Given the description of an element on the screen output the (x, y) to click on. 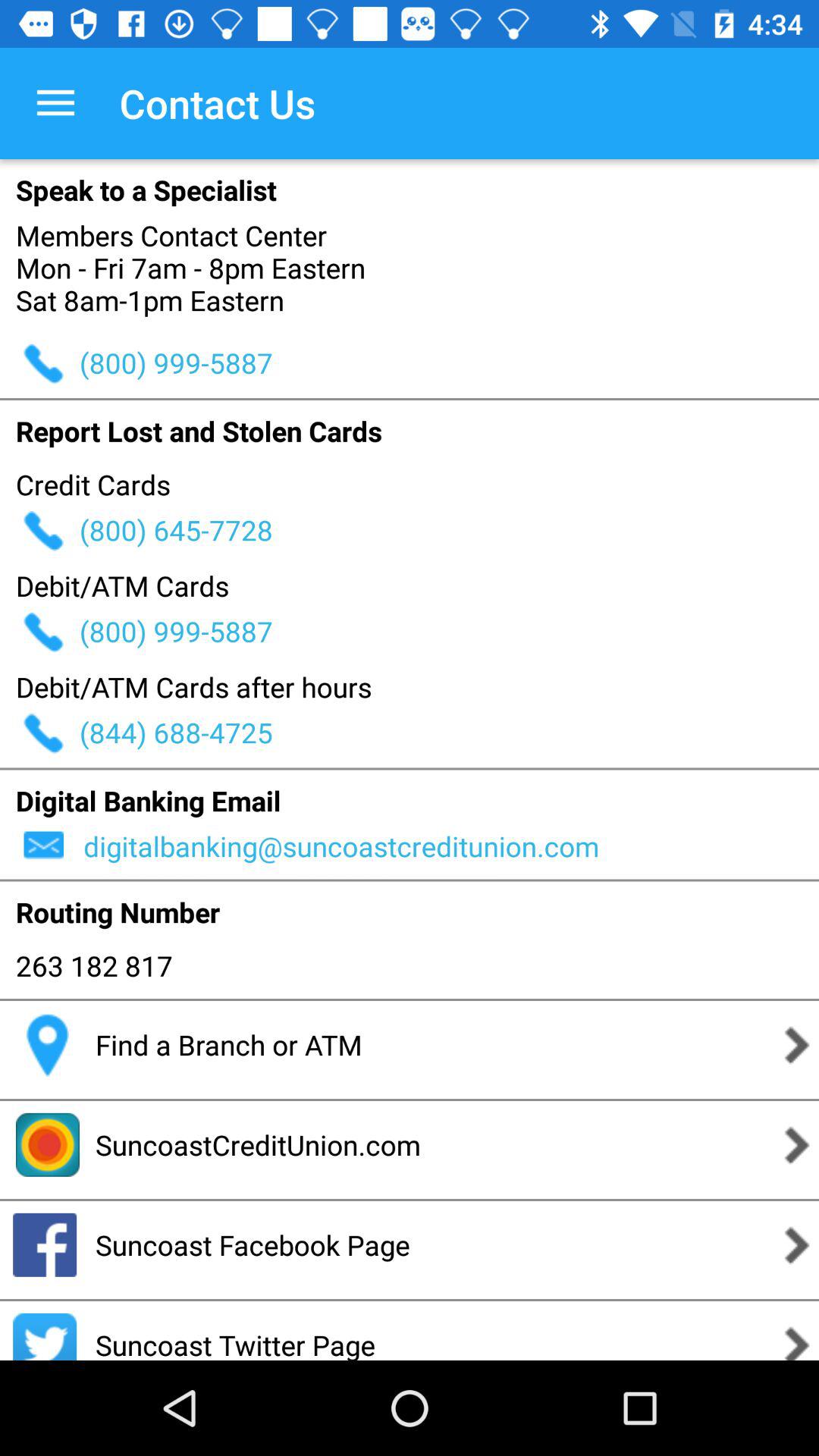
click the (800) 645-7728 item (449, 529)
